Given the description of an element on the screen output the (x, y) to click on. 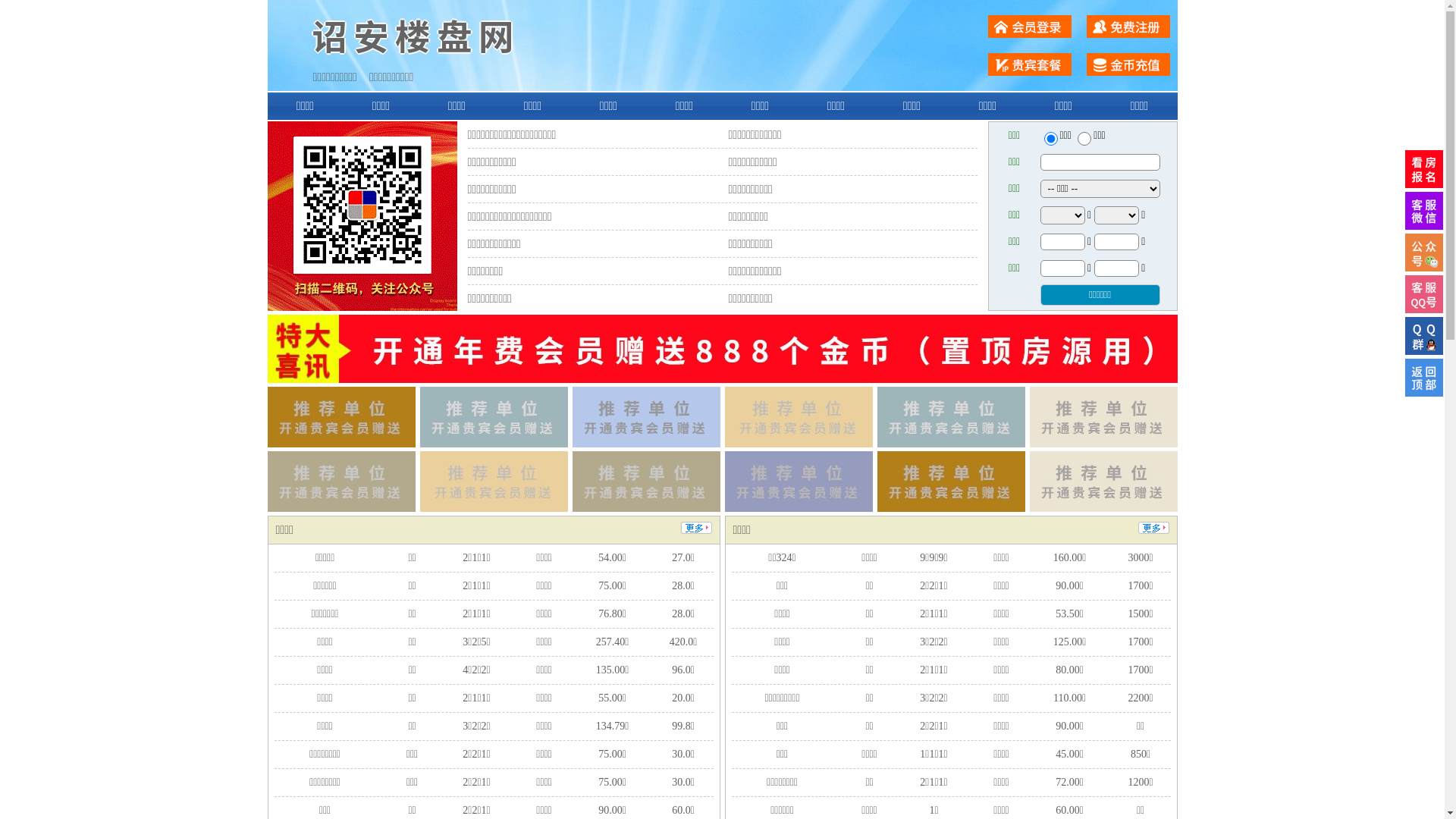
ershou Element type: text (1050, 138)
chuzu Element type: text (1084, 138)
